Given the description of an element on the screen output the (x, y) to click on. 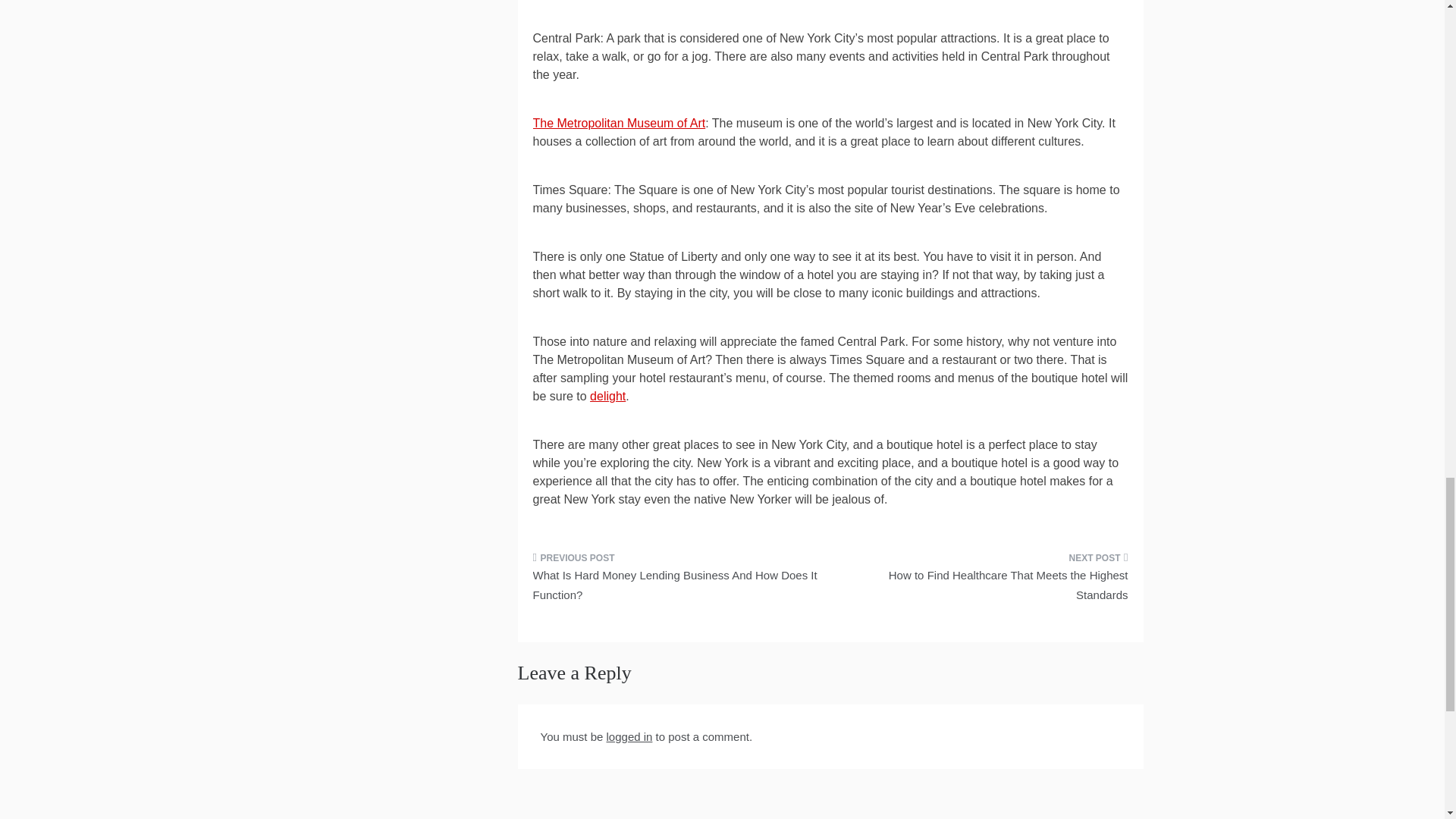
How to Find Healthcare That Meets the Highest Standards (984, 580)
logged in (629, 736)
The Metropolitan Museum of Art (618, 123)
delight (607, 395)
